Given the description of an element on the screen output the (x, y) to click on. 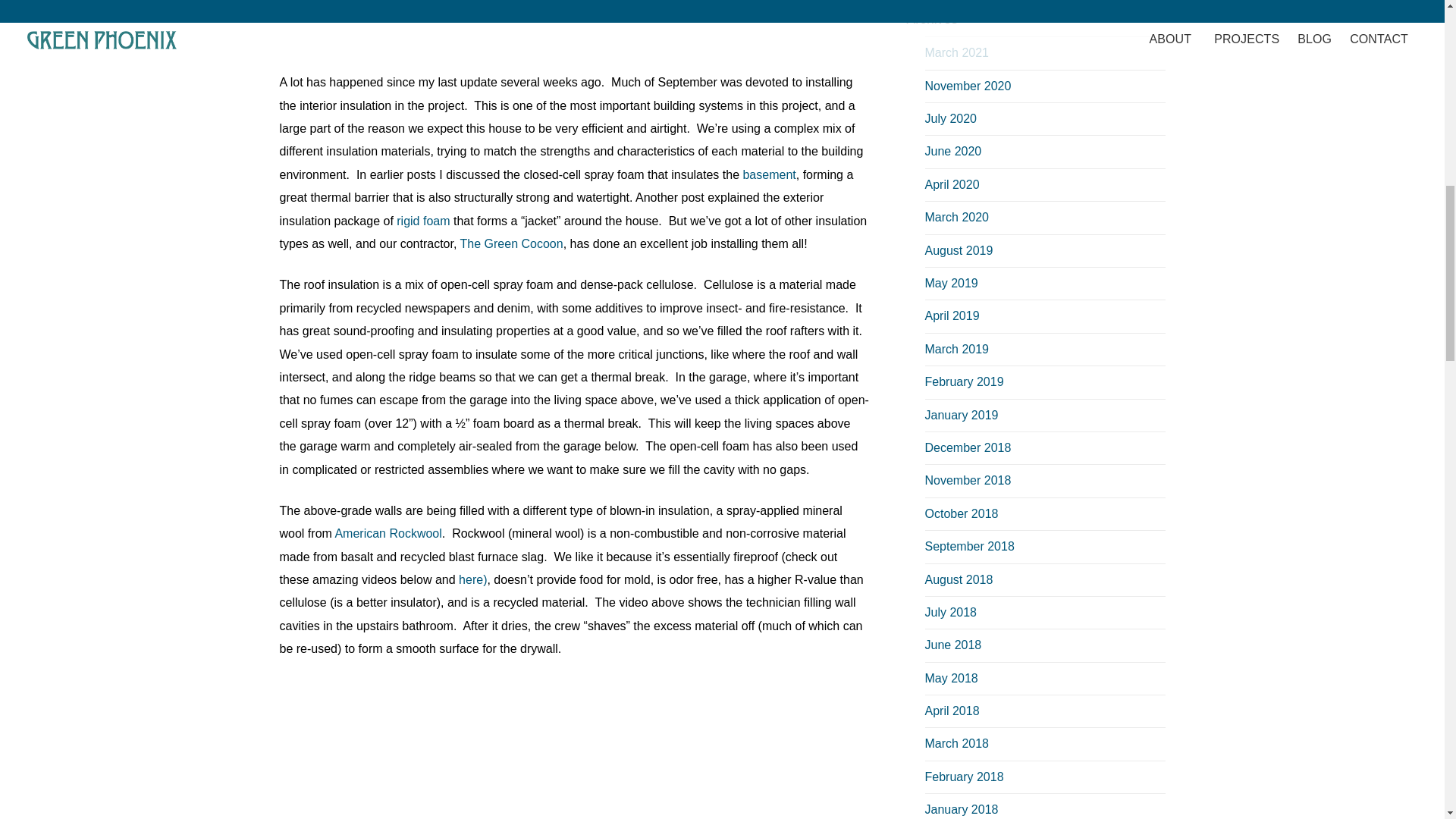
American Rockwool (387, 533)
March 2021 (957, 51)
May 2019 (951, 282)
March 2020 (957, 216)
August 2019 (958, 250)
here (470, 579)
April 2019 (951, 315)
April 2020 (951, 184)
basement (768, 174)
rigid foam (422, 220)
November 2020 (967, 85)
July 2020 (950, 118)
June 2020 (952, 151)
March 2019 (957, 349)
The Green Cocoon (511, 243)
